Given the description of an element on the screen output the (x, y) to click on. 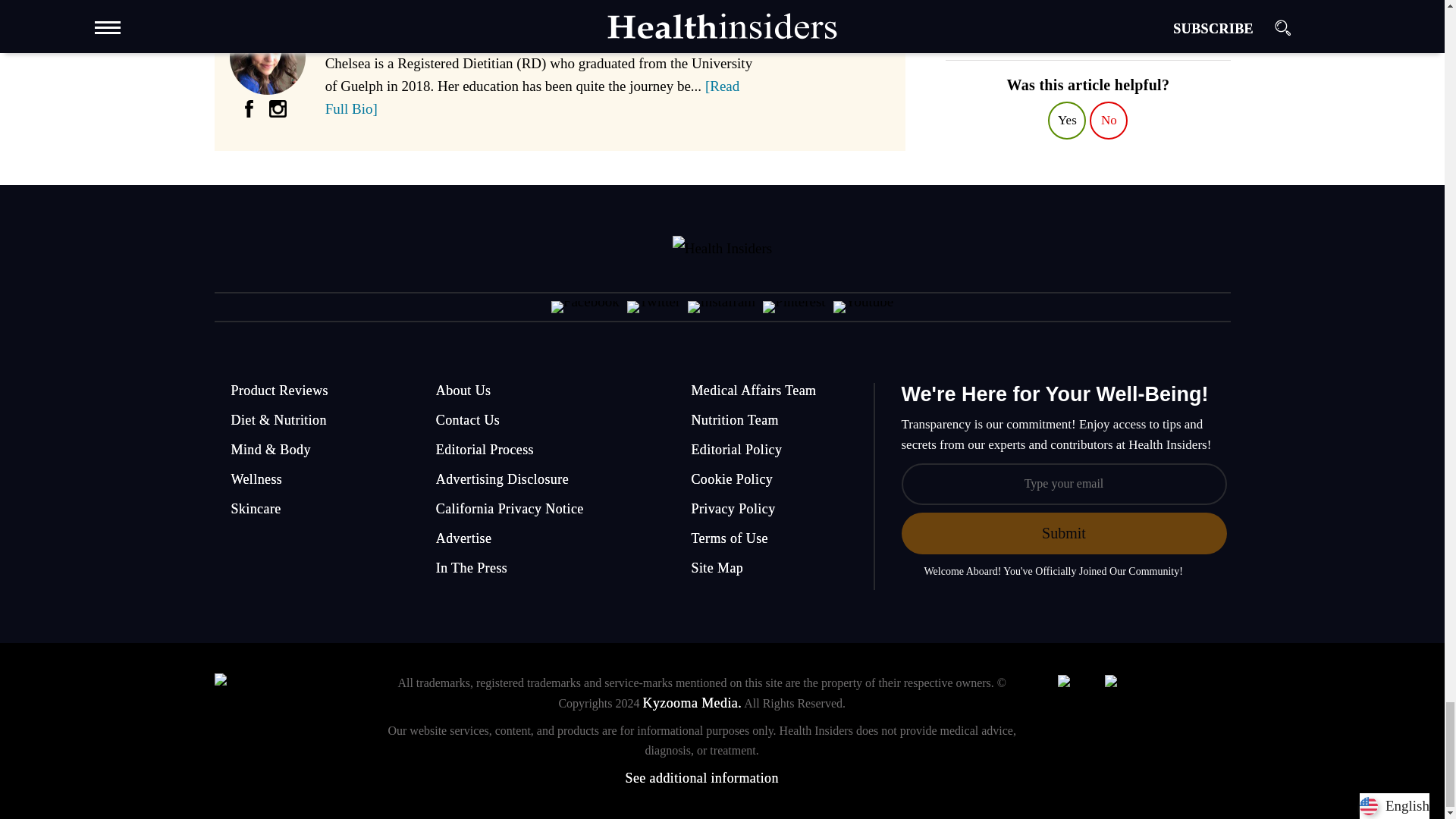
KYZOOMA.COM : NEXT-GEN MEDIA, TIMELESS BRANDS. (280, 725)
